Given the description of an element on the screen output the (x, y) to click on. 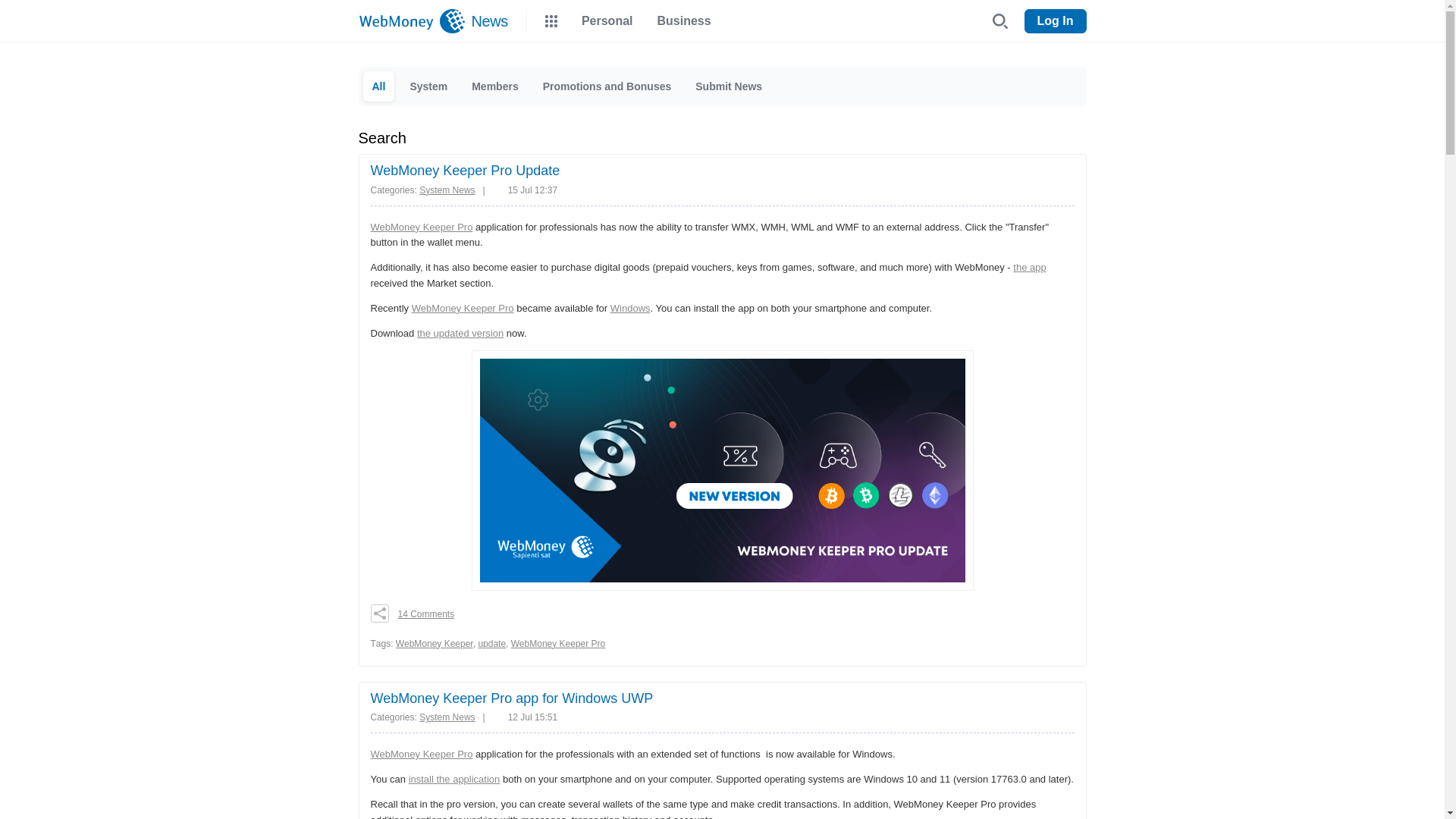
Log In (1055, 21)
News (486, 21)
WebMoney Keeper Pro Update (464, 170)
WebMoney Keeper Pro app for Windows UWP (510, 698)
